Given the description of an element on the screen output the (x, y) to click on. 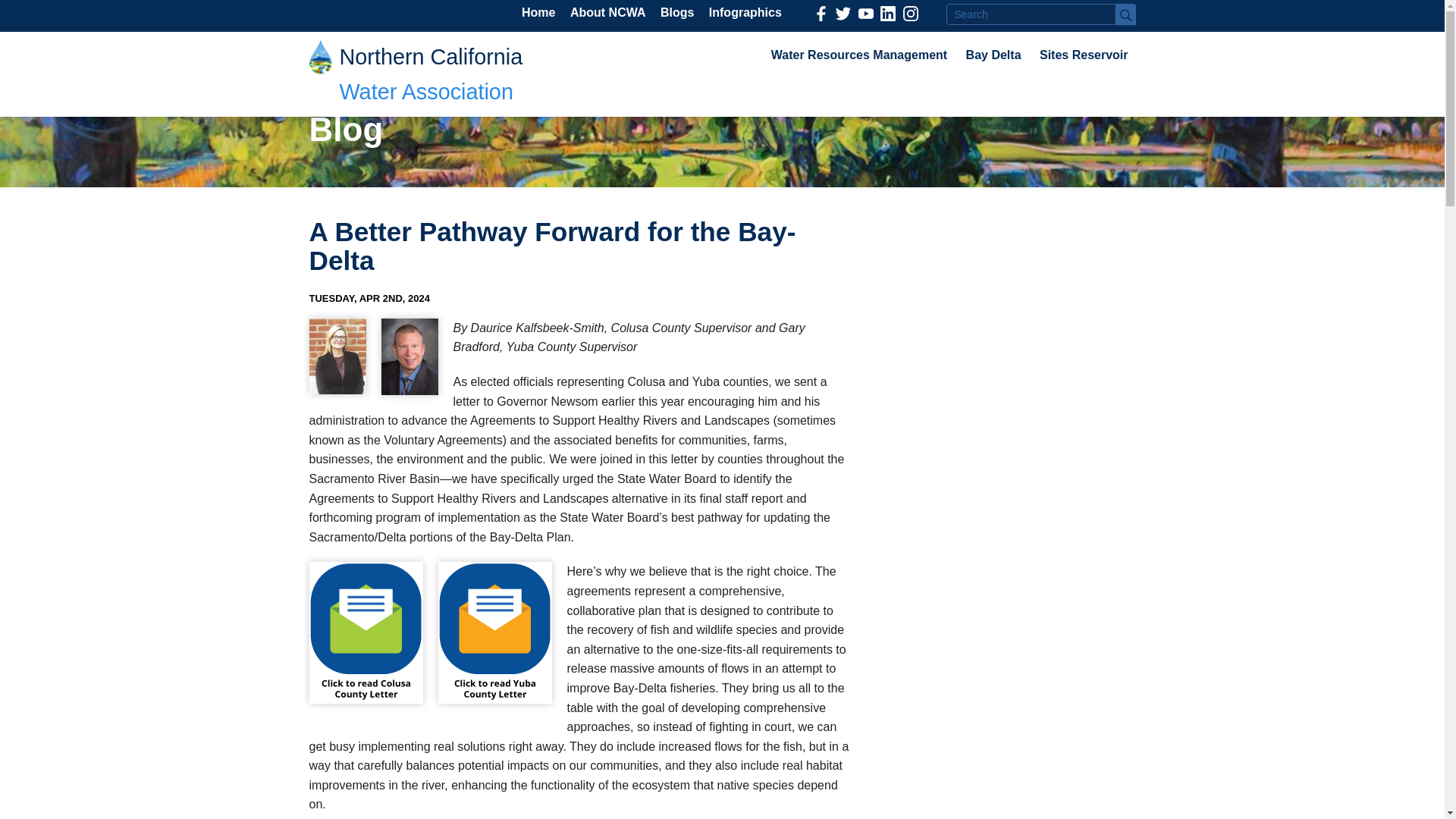
Blogs (677, 13)
Bay Delta (993, 54)
Northern California Water Association (430, 74)
Sites Reservoir (1083, 54)
About NCWA (608, 13)
Home (537, 13)
Infographics (745, 13)
Search (1125, 14)
Water Resources Management (858, 54)
Search (1125, 14)
